Given the description of an element on the screen output the (x, y) to click on. 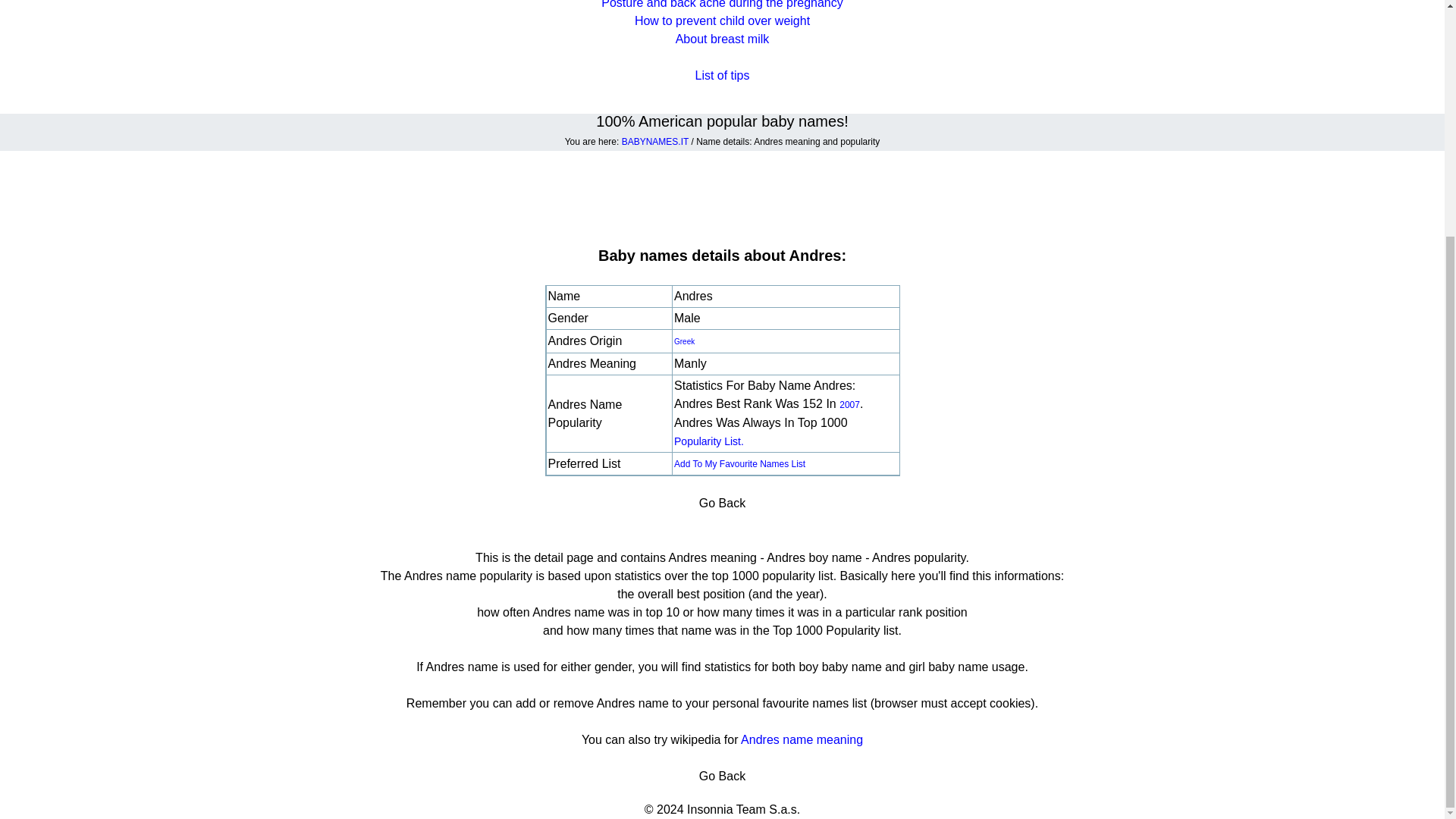
List of tips (721, 74)
How to prevent child over weight (721, 20)
How to prevent child over weight (721, 20)
2007 (850, 404)
Posture and back ache during the pregnancy (722, 4)
Andres popularity list (709, 440)
Popularity List. (709, 440)
Go Back (721, 775)
List of tips (721, 74)
Andres name meaning (802, 739)
